Given the description of an element on the screen output the (x, y) to click on. 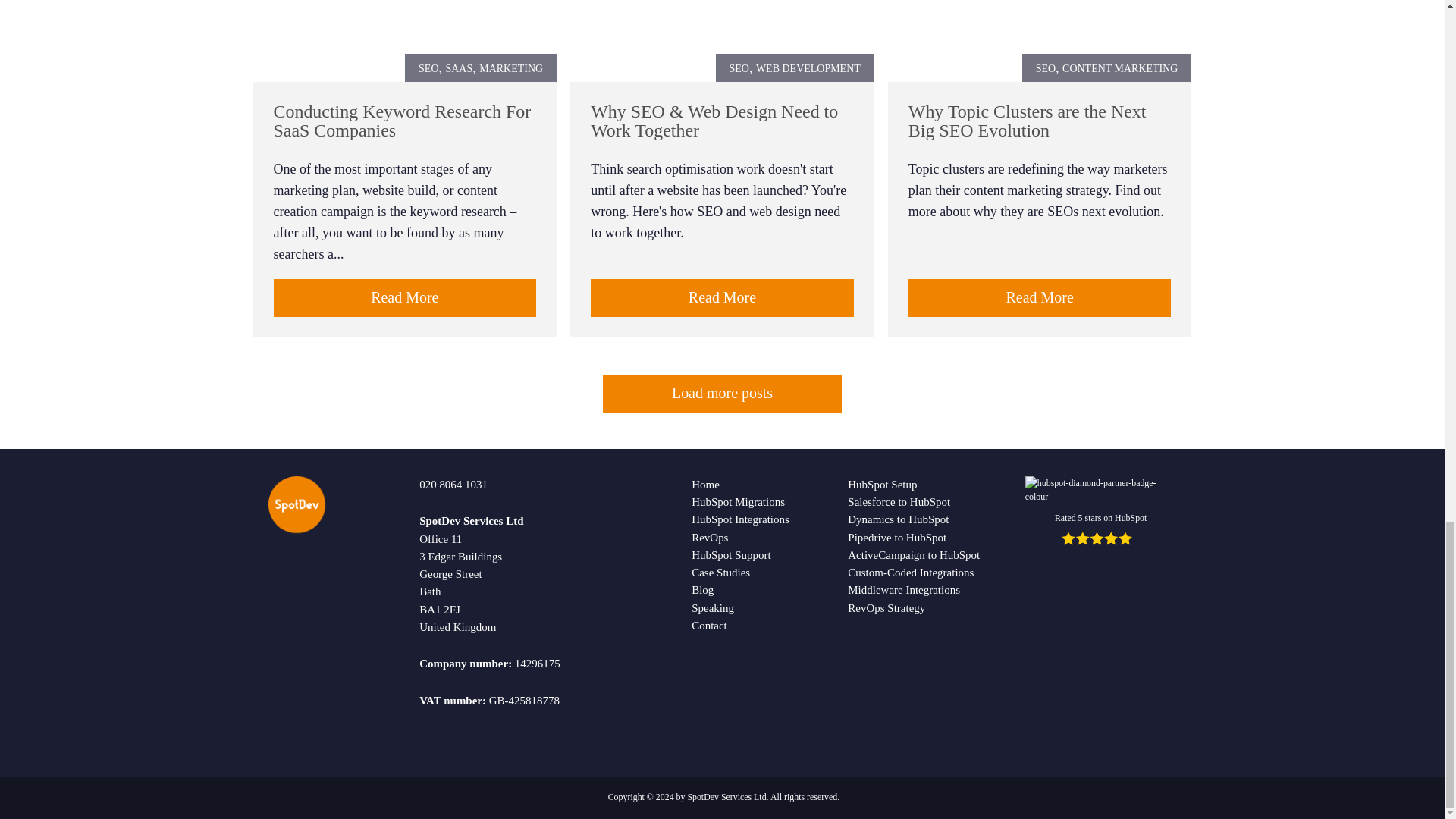
SpotDev Logo (295, 504)
hubspot-diamond-partner-badge-colour (1100, 489)
5 Star Rating (1100, 538)
